Given the description of an element on the screen output the (x, y) to click on. 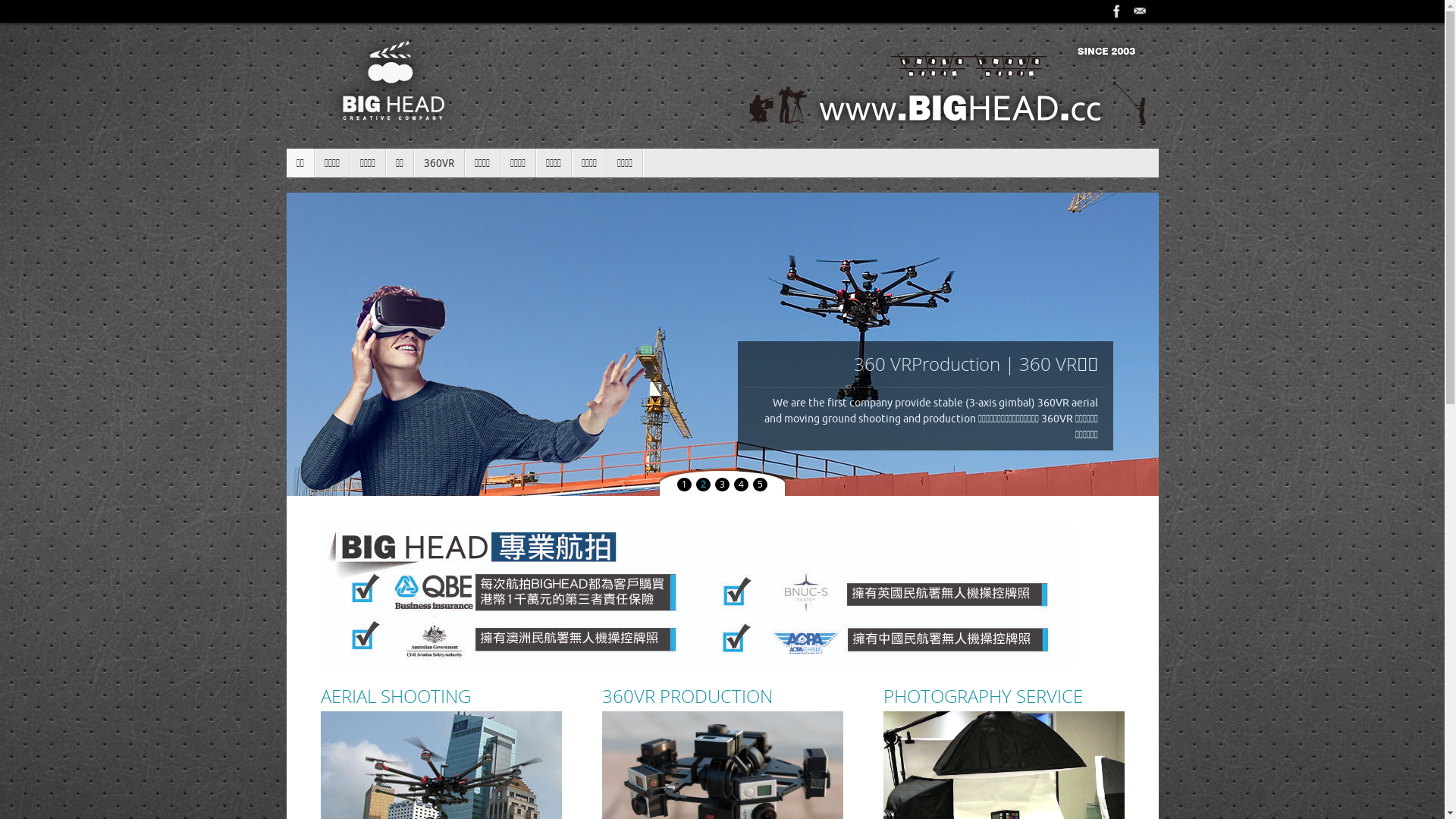
4 Element type: text (741, 484)
2 Element type: text (703, 484)
Facebook Element type: hover (1116, 11)
360VR Element type: text (439, 162)
AERIAL SHOOTING Element type: text (440, 695)
PHOTOGRAPHY SERVICE Element type: text (1002, 695)
360VR PRODUCTION Element type: text (722, 695)
1 Element type: text (684, 484)
5 Element type: text (760, 484)
Mail Element type: hover (1139, 11)
3 Element type: text (722, 484)
